Given the description of an element on the screen output the (x, y) to click on. 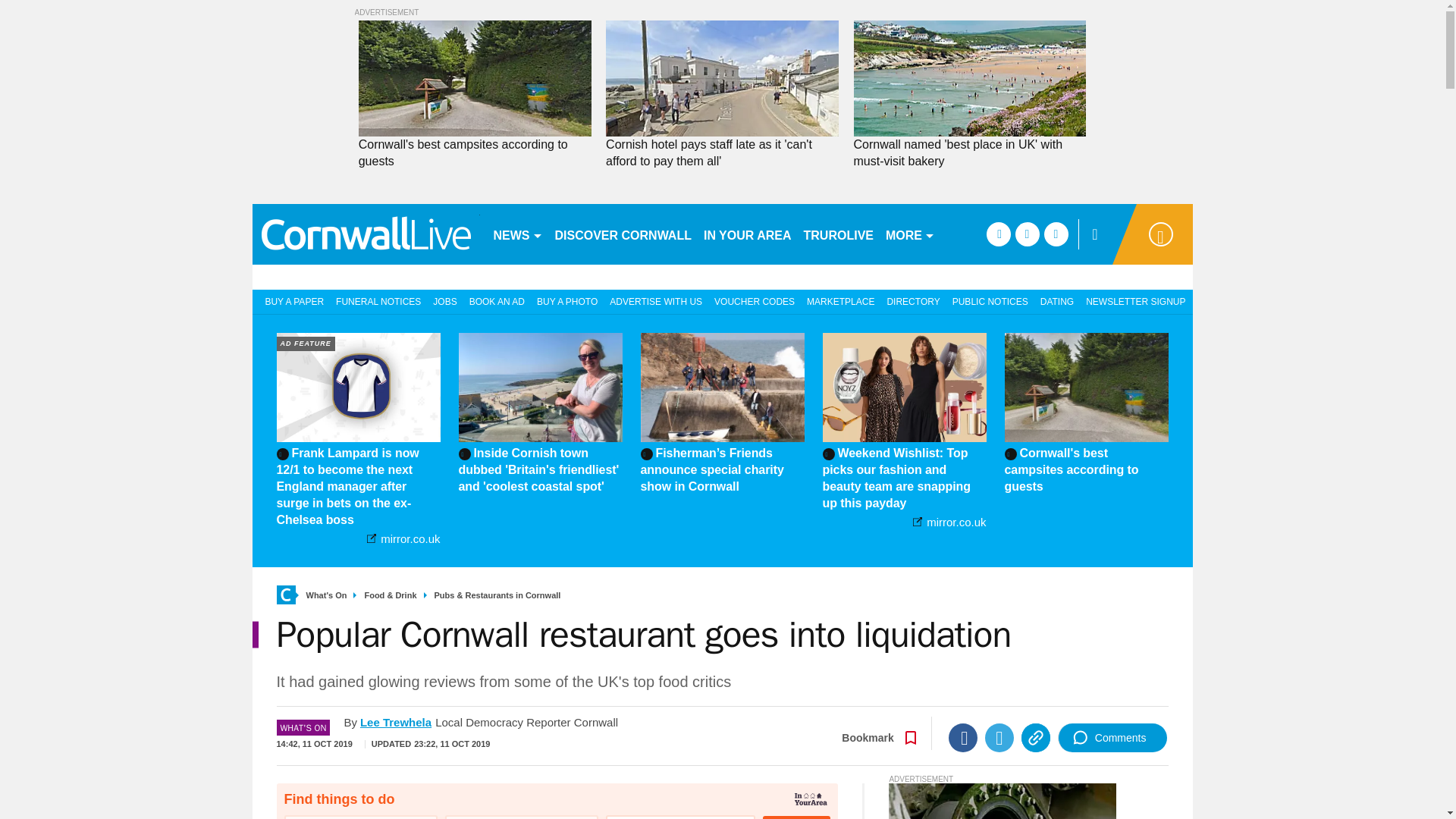
Facebook (962, 737)
Cornwall named 'best place in UK' with must-visit bakery (969, 152)
TRUROLIVE (838, 233)
twitter (1026, 233)
facebook (997, 233)
cornwalllive (365, 233)
instagram (1055, 233)
Cornwall named 'best place in UK' with must-visit bakery (969, 152)
MORE (909, 233)
DISCOVER CORNWALL (622, 233)
NEWS (517, 233)
Comments (1112, 737)
Twitter (999, 737)
IN YOUR AREA (747, 233)
